Given the description of an element on the screen output the (x, y) to click on. 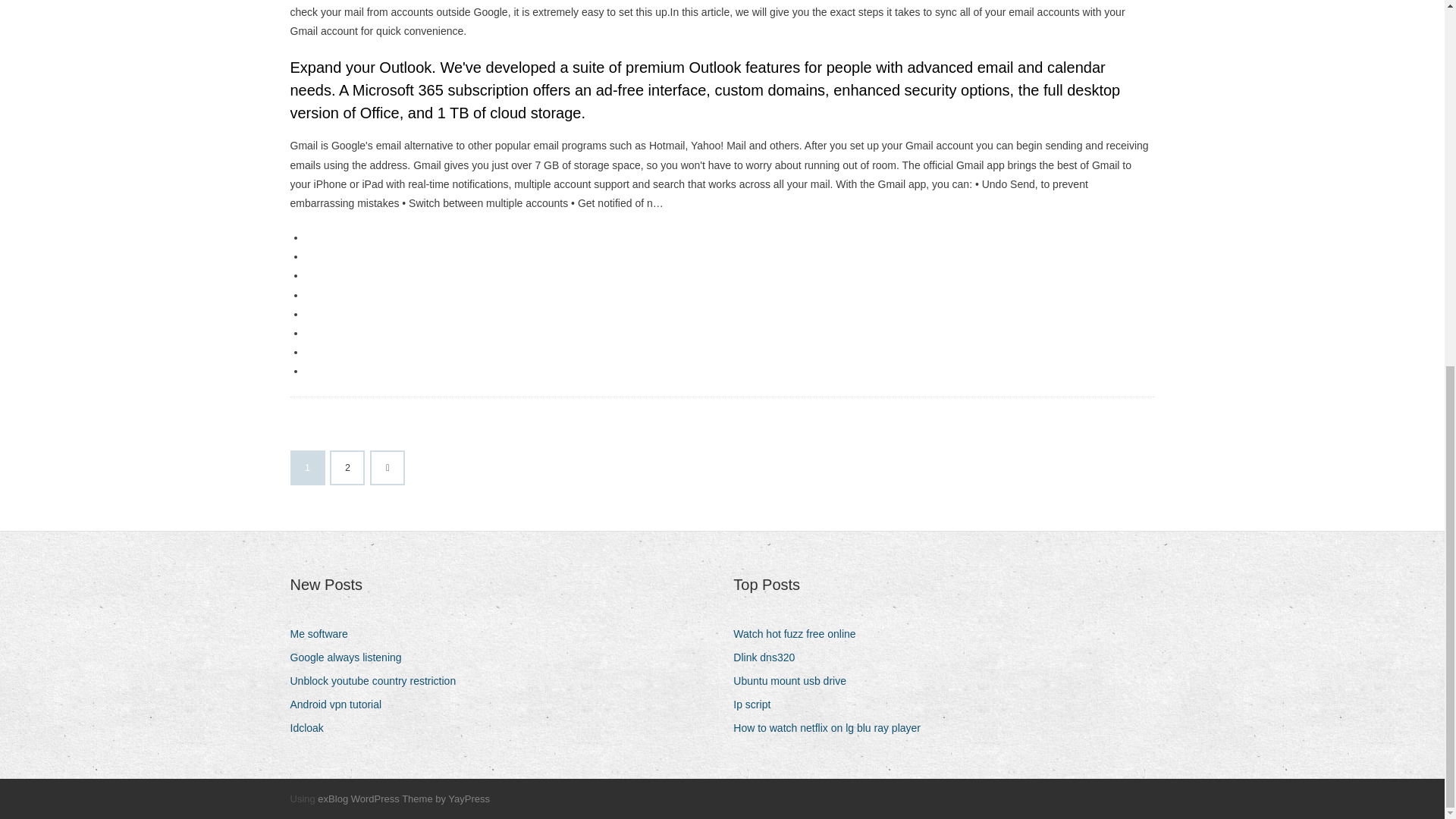
Watch hot fuzz free online (799, 634)
2 (346, 468)
Idcloak (311, 728)
Dlink dns320 (769, 657)
Ubuntu mount usb drive (795, 680)
How to watch netflix on lg blu ray player (832, 728)
exBlog WordPress Theme by YayPress (403, 798)
Unblock youtube country restriction (378, 680)
Android vpn tutorial (341, 704)
Me software (323, 634)
Google always listening (350, 657)
Ip script (757, 704)
